Given the description of an element on the screen output the (x, y) to click on. 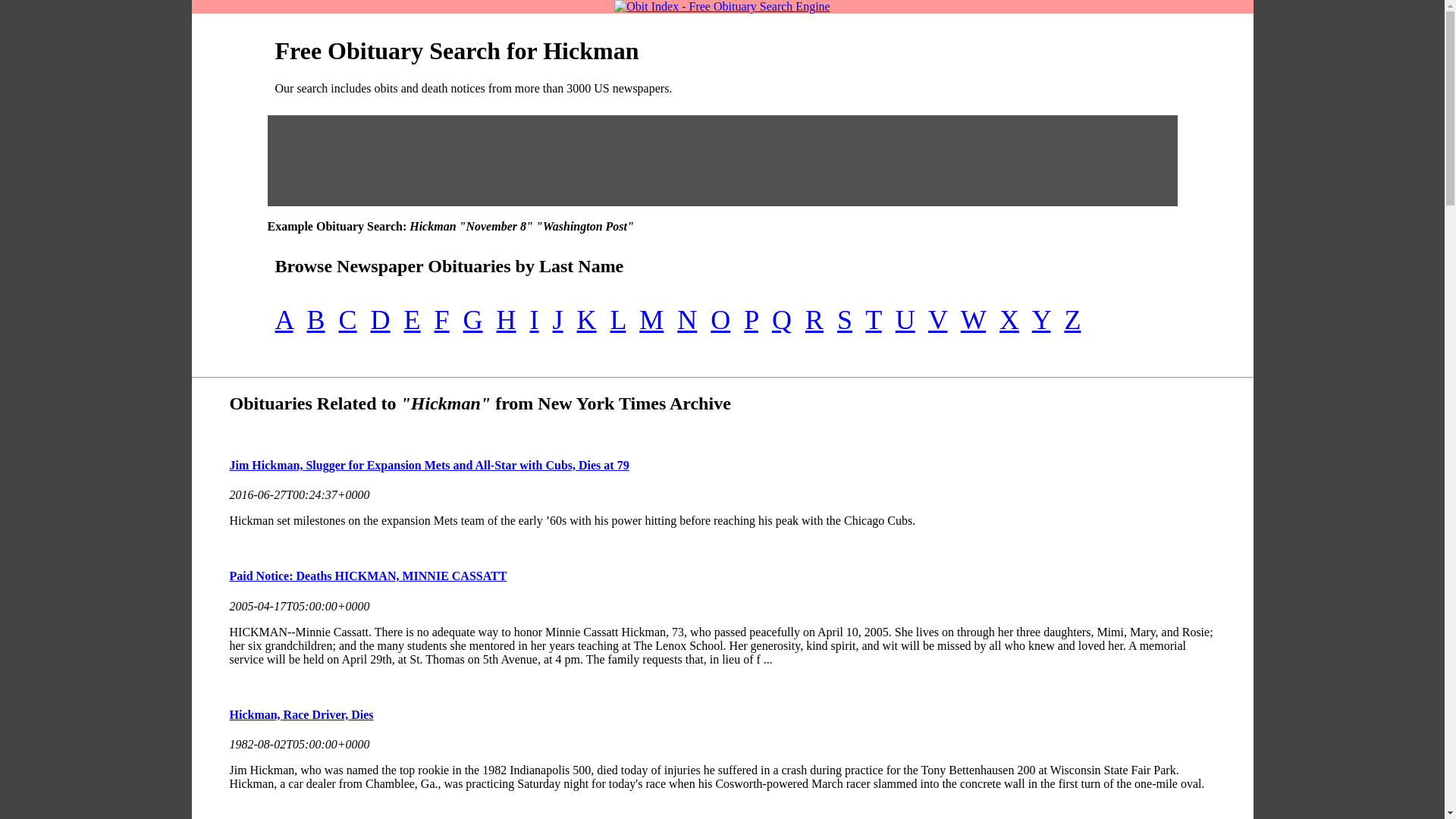
Hickman, Race Driver, Dies (300, 714)
Paid Notice: Deaths HICKMAN, MINNIE CASSATT (367, 575)
